Given the description of an element on the screen output the (x, y) to click on. 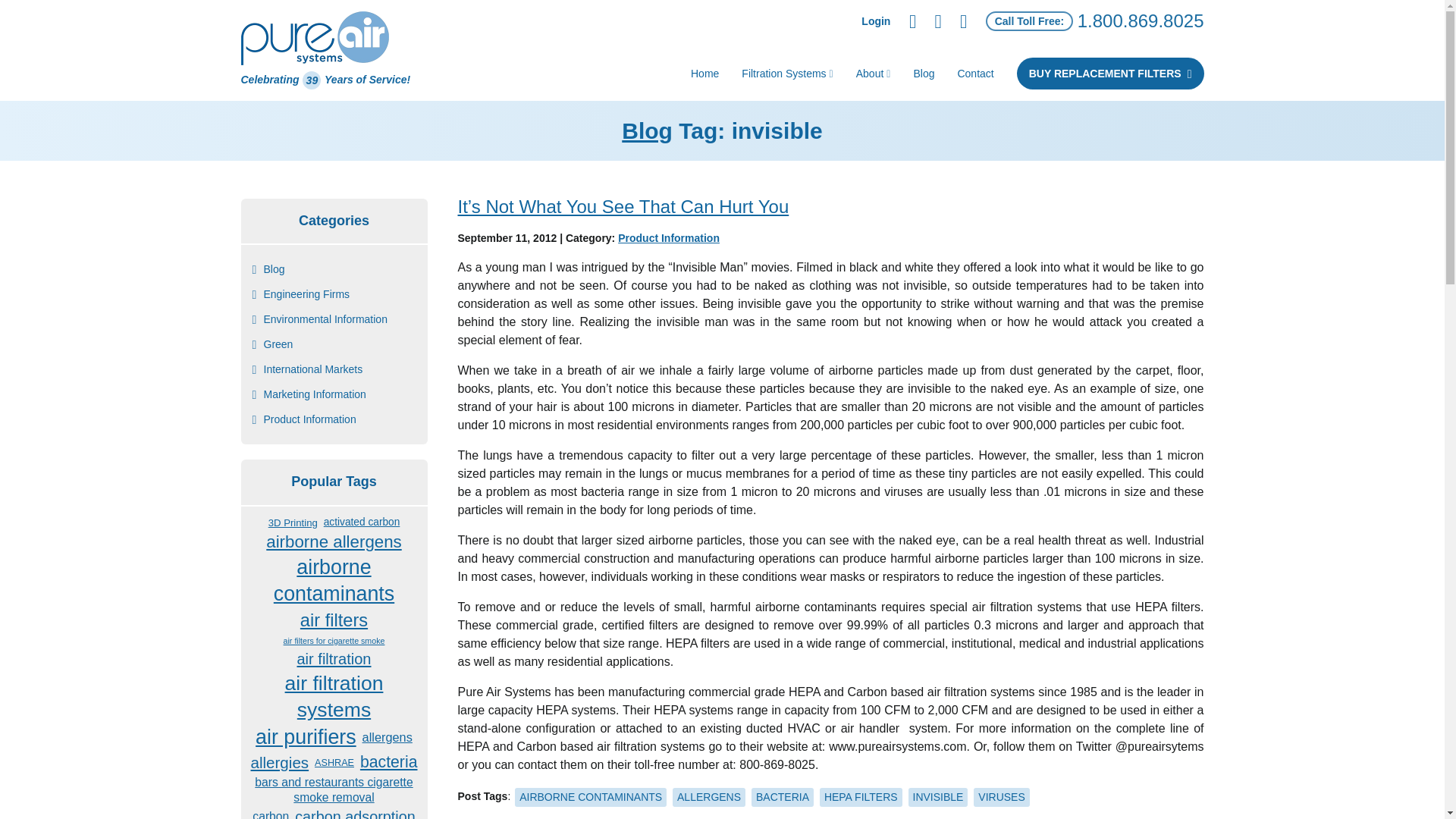
Product Information (668, 237)
Blog (646, 130)
International Markets (305, 369)
Blog (922, 73)
Product Information (302, 419)
Filtration Systems (787, 73)
Environmental Information (317, 319)
Login (875, 21)
Contact (974, 73)
Home (704, 73)
AIRBORNE CONTAMINANTS (590, 796)
1.800.869.8025 (1140, 21)
HEPA FILTERS (860, 796)
